Given the description of an element on the screen output the (x, y) to click on. 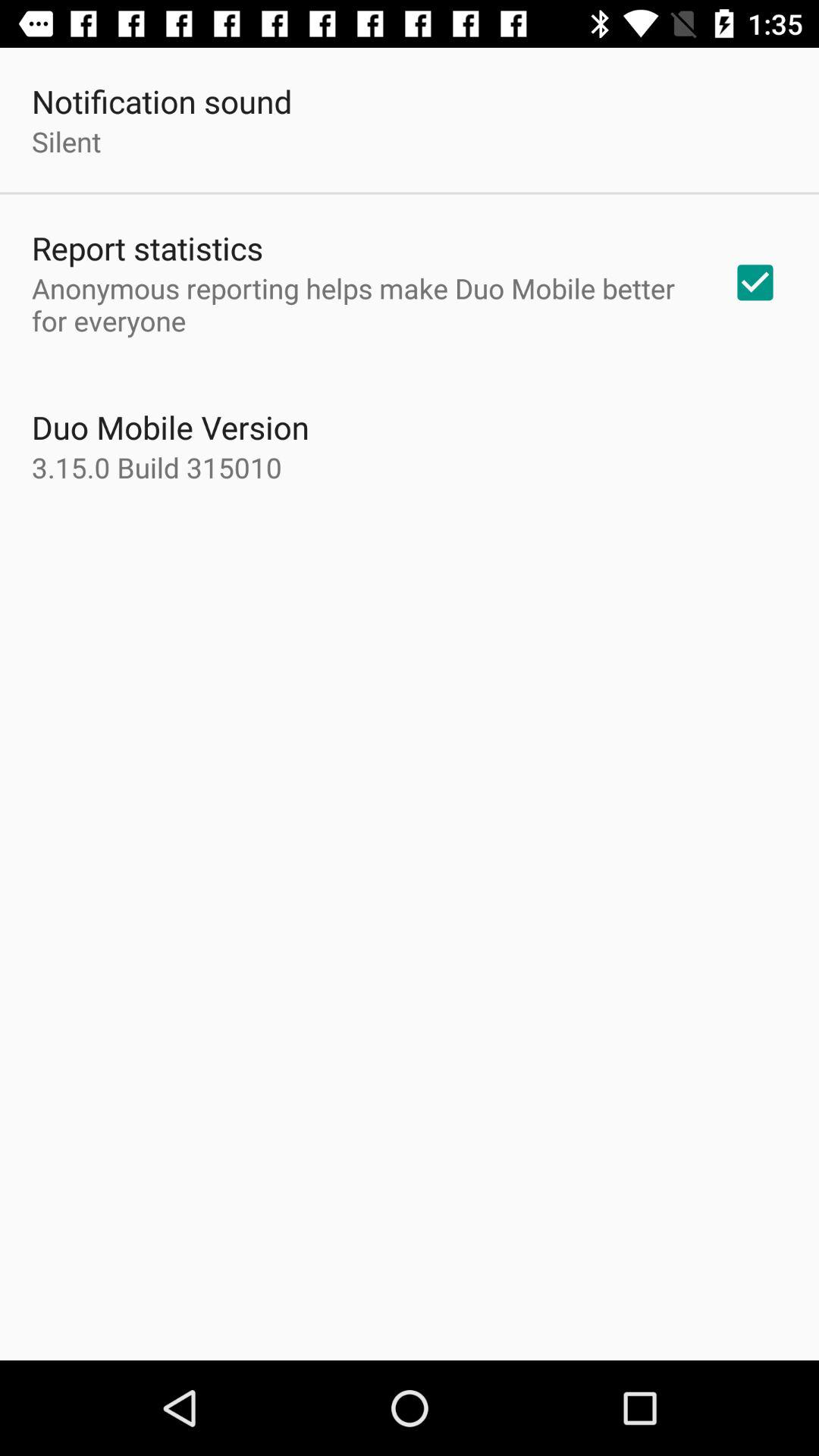
tap the app above report statistics (66, 141)
